Given the description of an element on the screen output the (x, y) to click on. 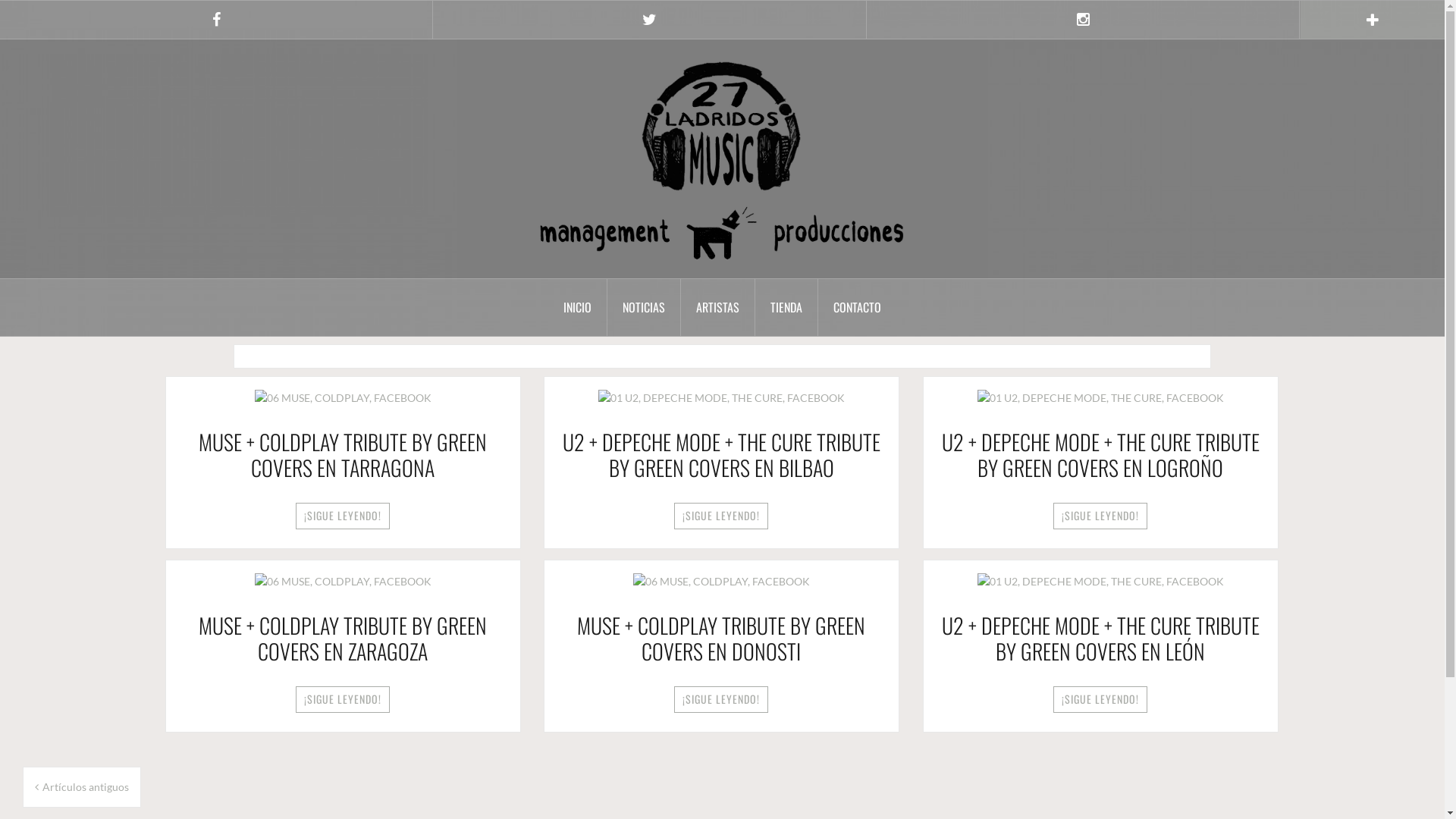
FACEBOOK Element type: text (216, 19)
INICIO Element type: text (577, 307)
CONTACTO Element type: text (857, 307)
MUSE + COLDPLAY TRIBUTE BY GREEN COVERS EN ZARAGOZA Element type: text (342, 637)
Buscar Element type: text (27, 19)
TWITTER Element type: text (649, 19)
MUSE + COLDPLAY TRIBUTE BY GREEN COVERS EN DONOSTI Element type: text (721, 637)
MUSE + COLDPLAY TRIBUTE BY GREEN COVERS EN DONOSTI Element type: hover (721, 579)
MUSE + COLDPLAY TRIBUTE BY GREEN COVERS EN TARRAGONA Element type: hover (342, 395)
Skip to content Element type: text (0, 0)
MUSE + COLDPLAY TRIBUTE BY GREEN COVERS EN TARRAGONA Element type: text (342, 454)
TIENDA Element type: text (786, 307)
INSTAGRAM Element type: text (1082, 19)
NOTICIAS Element type: text (643, 307)
ARTISTAS Element type: text (717, 307)
MUSE + COLDPLAY TRIBUTE BY GREEN COVERS EN ZARAGOZA Element type: hover (342, 579)
27 LADRIDOS Element type: hover (721, 156)
